Given the description of an element on the screen output the (x, y) to click on. 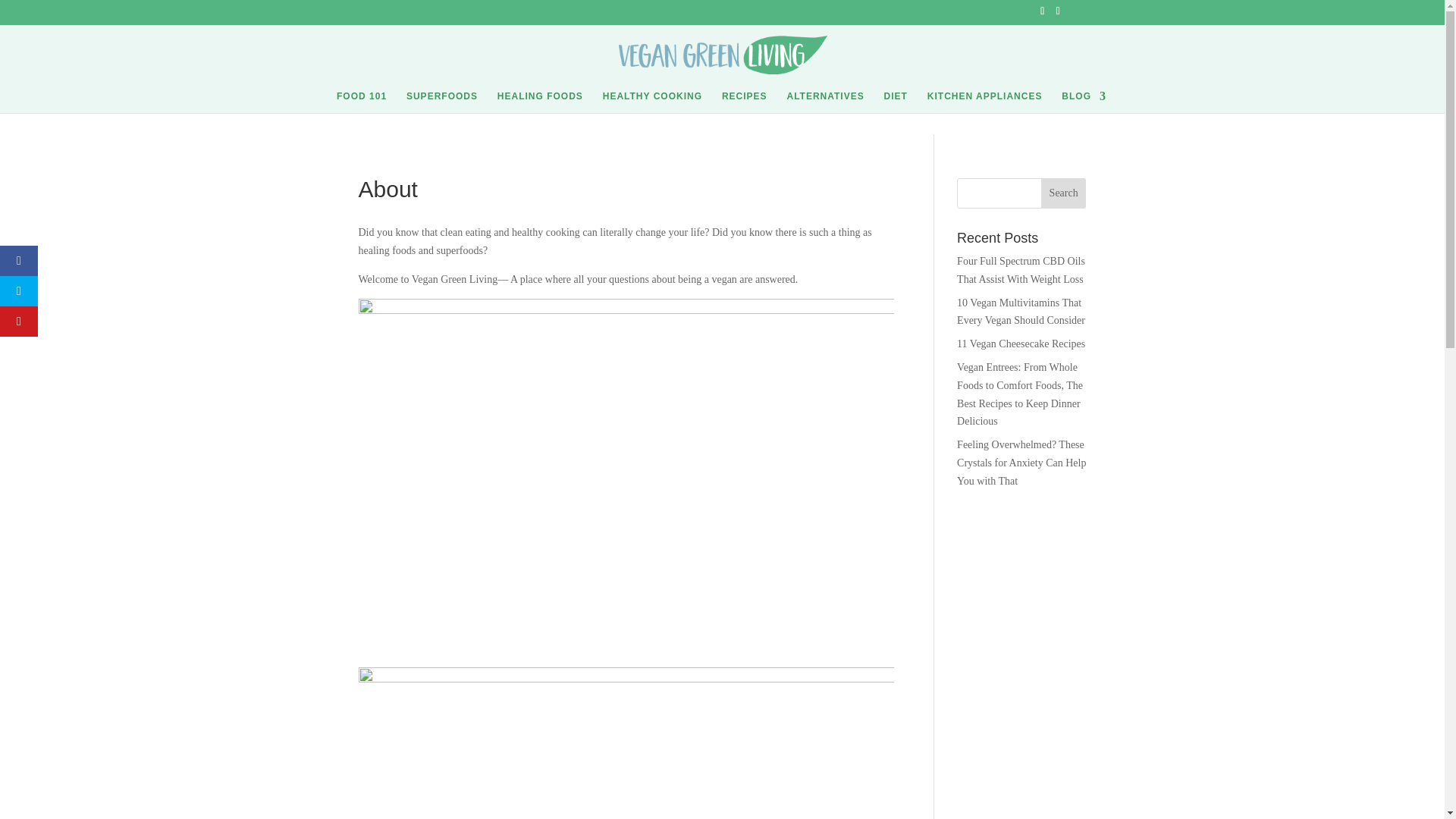
10 Vegan Multivitamins That Every Vegan Should Consider (1020, 311)
BLOG (1083, 101)
DIET (895, 101)
HEALTHY COOKING (651, 101)
11 Vegan Cheesecake Recipes (1020, 343)
Four Full Spectrum CBD Oils That Assist With Weight Loss (1020, 270)
SUPERFOODS (441, 101)
Search (1063, 193)
ALTERNATIVES (824, 101)
KITCHEN APPLIANCES (984, 101)
FOOD 101 (361, 101)
RECIPES (744, 101)
Search (1063, 193)
